Given the description of an element on the screen output the (x, y) to click on. 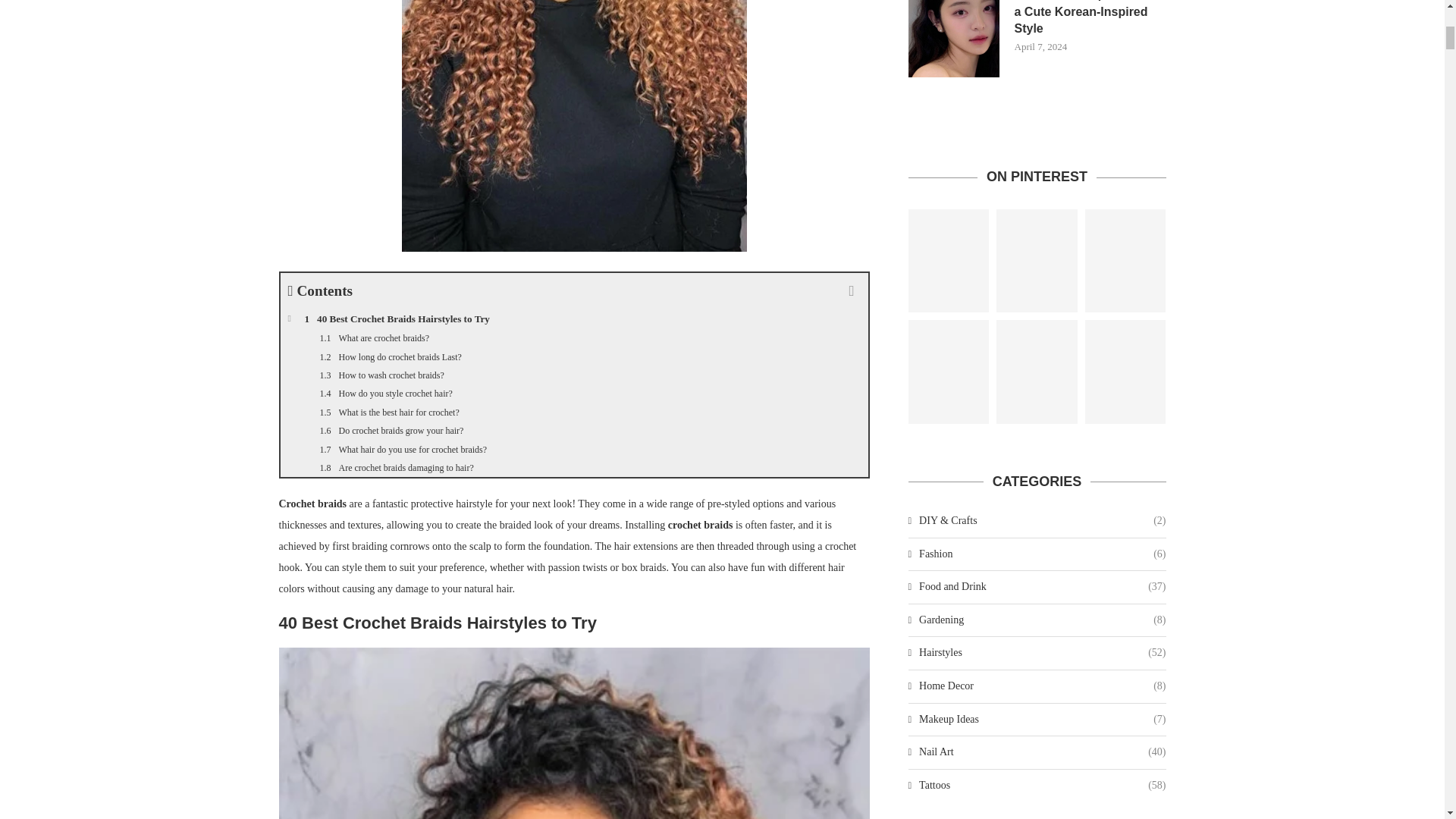
How long do crochet braids Last? (575, 357)
What is the best hair for crochet? (575, 412)
Do crochet braids grow your hair? (575, 430)
Crochet Braids Curly 1 (573, 125)
How do you style crochet hair? (575, 393)
What hair do you use for crochet braids? (575, 449)
How to wash crochet braids? (575, 375)
Are crochet braids damaging to hair? (575, 467)
What are crochet braids? (575, 338)
40 Best Crochet Braids Hairstyles to Try (575, 319)
